Given the description of an element on the screen output the (x, y) to click on. 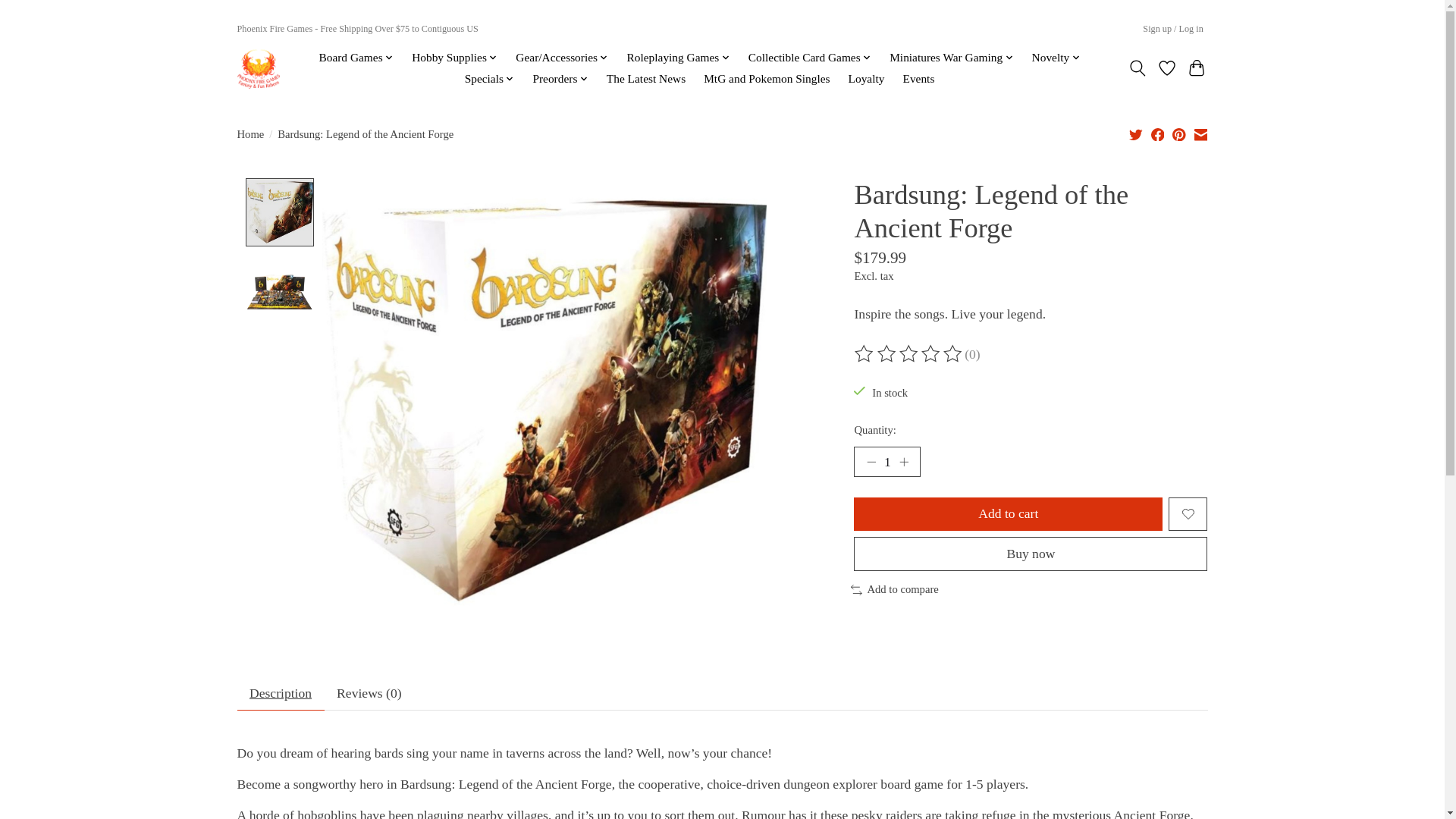
Share on Pinterest (1178, 133)
1 (886, 461)
Hobby Supplies (454, 56)
Board Games (355, 56)
Share on Twitter (1135, 133)
Phoenix Fire Games (257, 67)
Share by Email (1200, 133)
Share on Facebook (1157, 133)
My account (1173, 28)
